Given the description of an element on the screen output the (x, y) to click on. 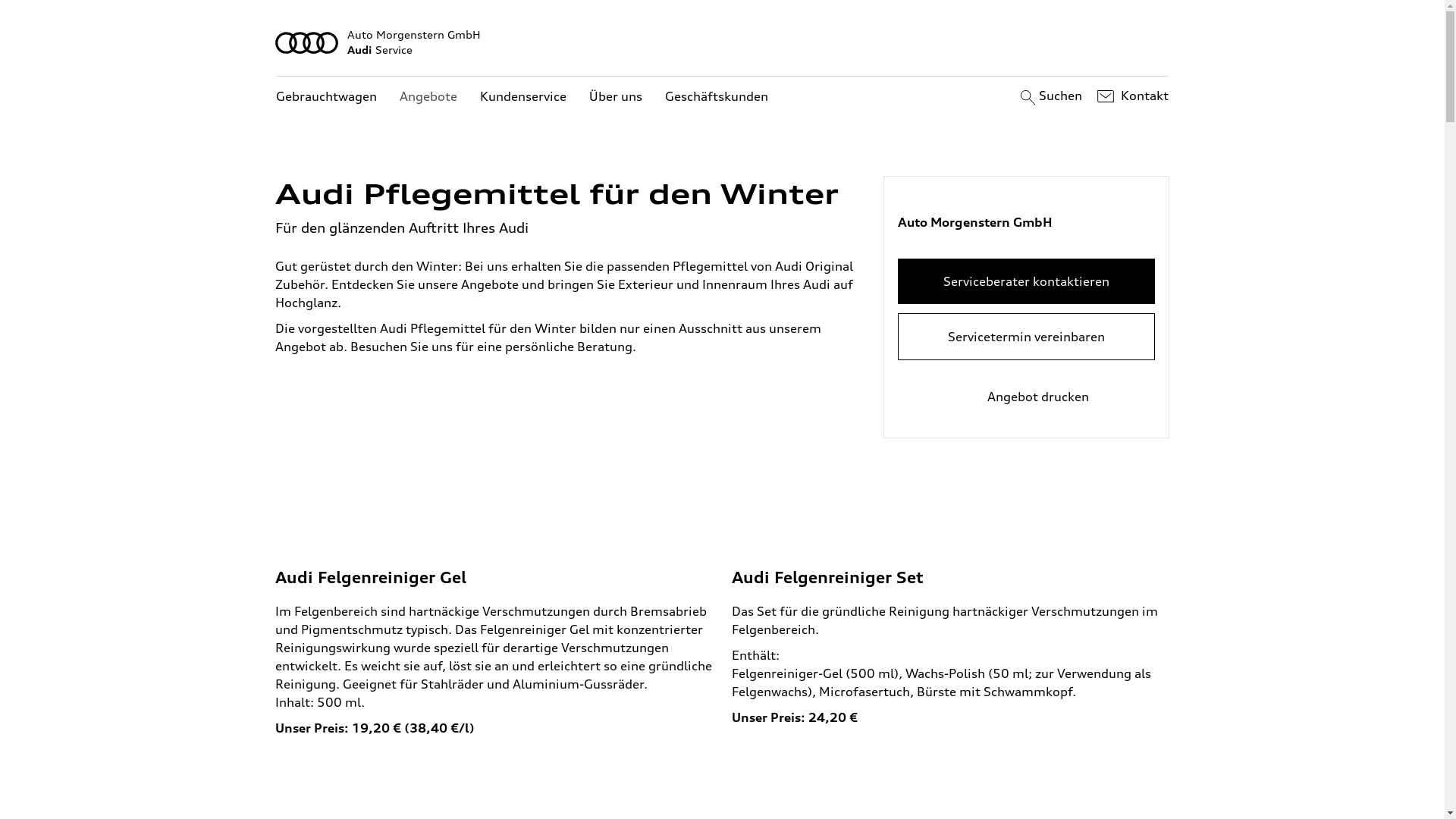
Suchen Element type: text (1049, 96)
Serviceberater kontaktieren Element type: text (1025, 281)
Kundenservice Element type: text (523, 96)
Angebote Element type: text (428, 96)
Angebot drucken Element type: text (1026, 396)
Auto Morgenstern GmbH
AudiService Element type: text (722, 42)
Gebrauchtwagen Element type: text (326, 96)
Servicetermin vereinbaren Element type: text (1025, 336)
Kontakt Element type: text (1130, 96)
